Given the description of an element on the screen output the (x, y) to click on. 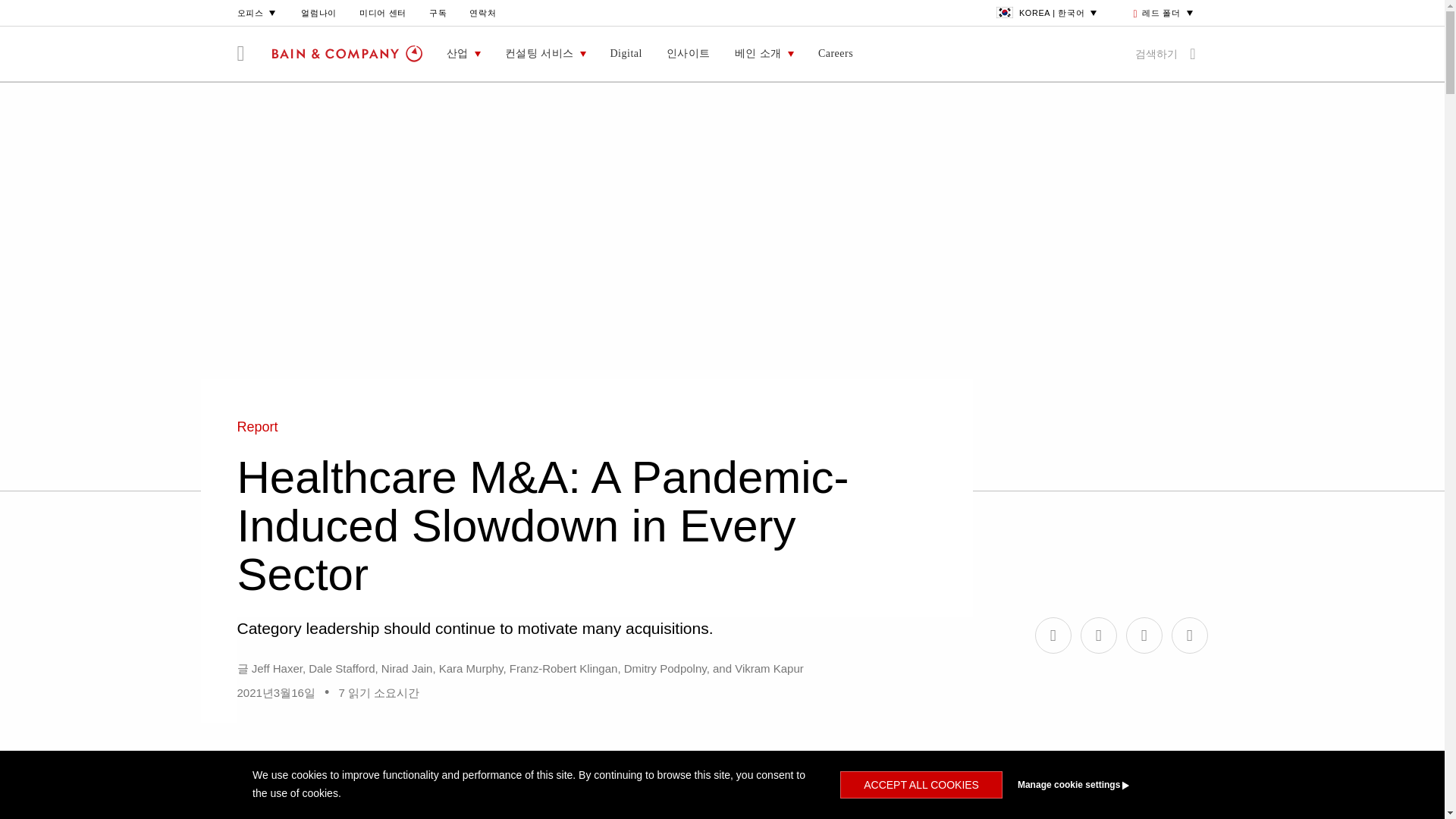
ACCEPT ALL COOKIES (921, 784)
Manage cookie settings (1101, 784)
